Given the description of an element on the screen output the (x, y) to click on. 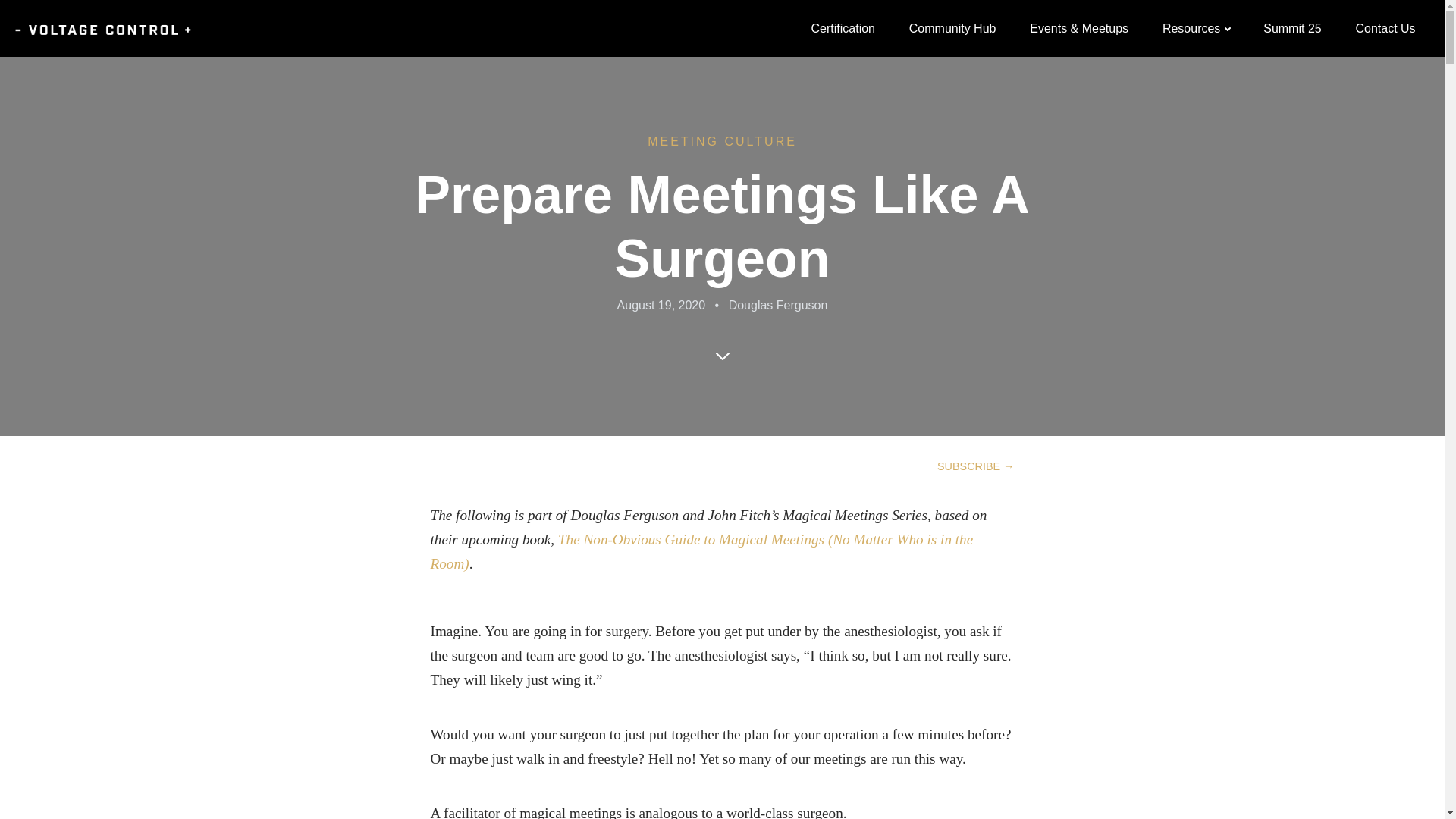
Certification (842, 28)
Summit 25 (1292, 28)
Certification (842, 28)
Community Hub (951, 28)
MEETING CULTURE (721, 147)
Resources (1195, 28)
Community Hub (951, 28)
Contact Us (1385, 28)
Summit 25 (1292, 28)
Contact Us (1385, 28)
